Given the description of an element on the screen output the (x, y) to click on. 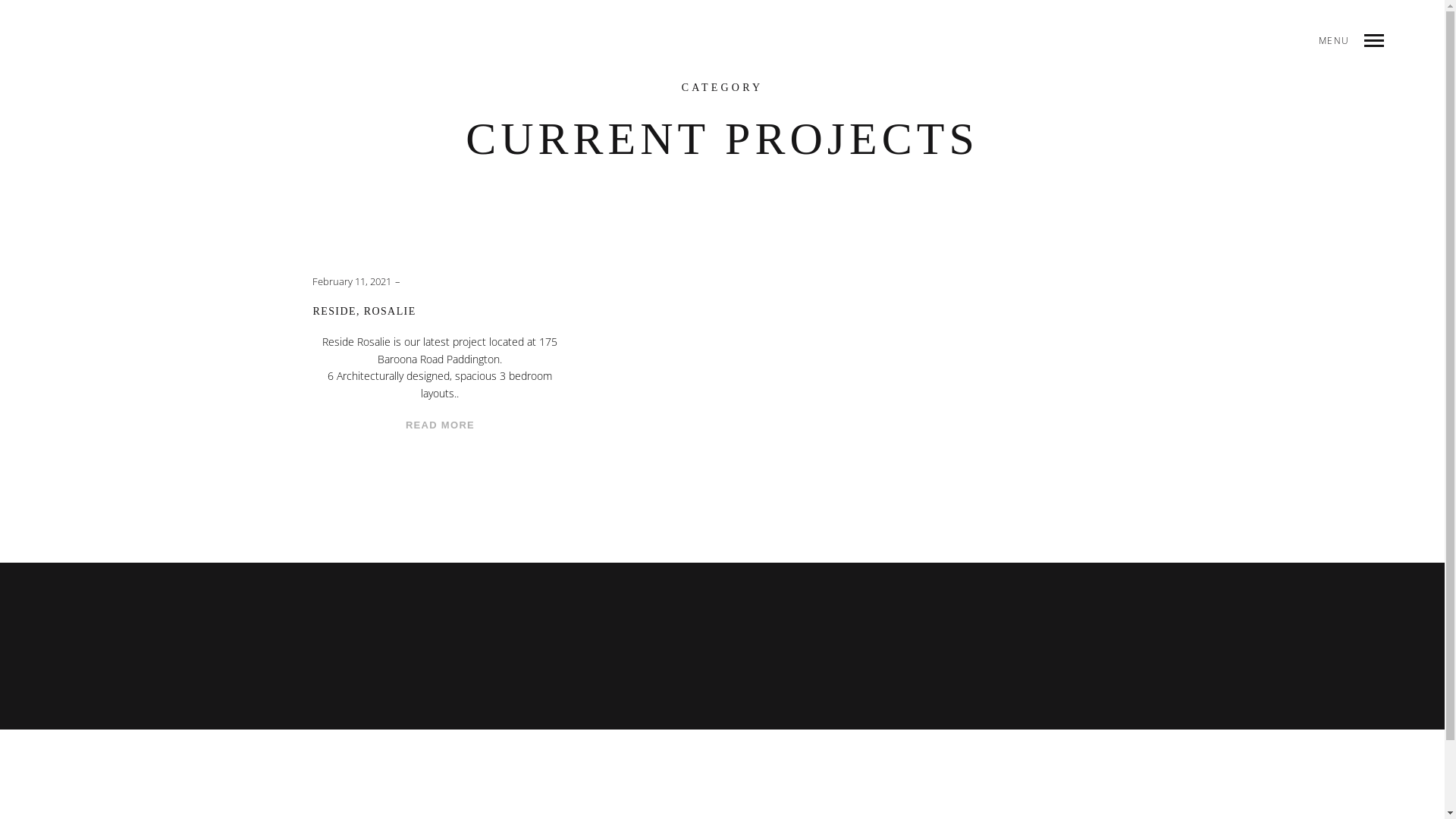
READ MORE Element type: text (439, 425)
RESIDE, ROSALIE Element type: text (439, 311)
February 11, 2021 Element type: text (351, 281)
Munro Group Element type: hover (52, 39)
